Given the description of an element on the screen output the (x, y) to click on. 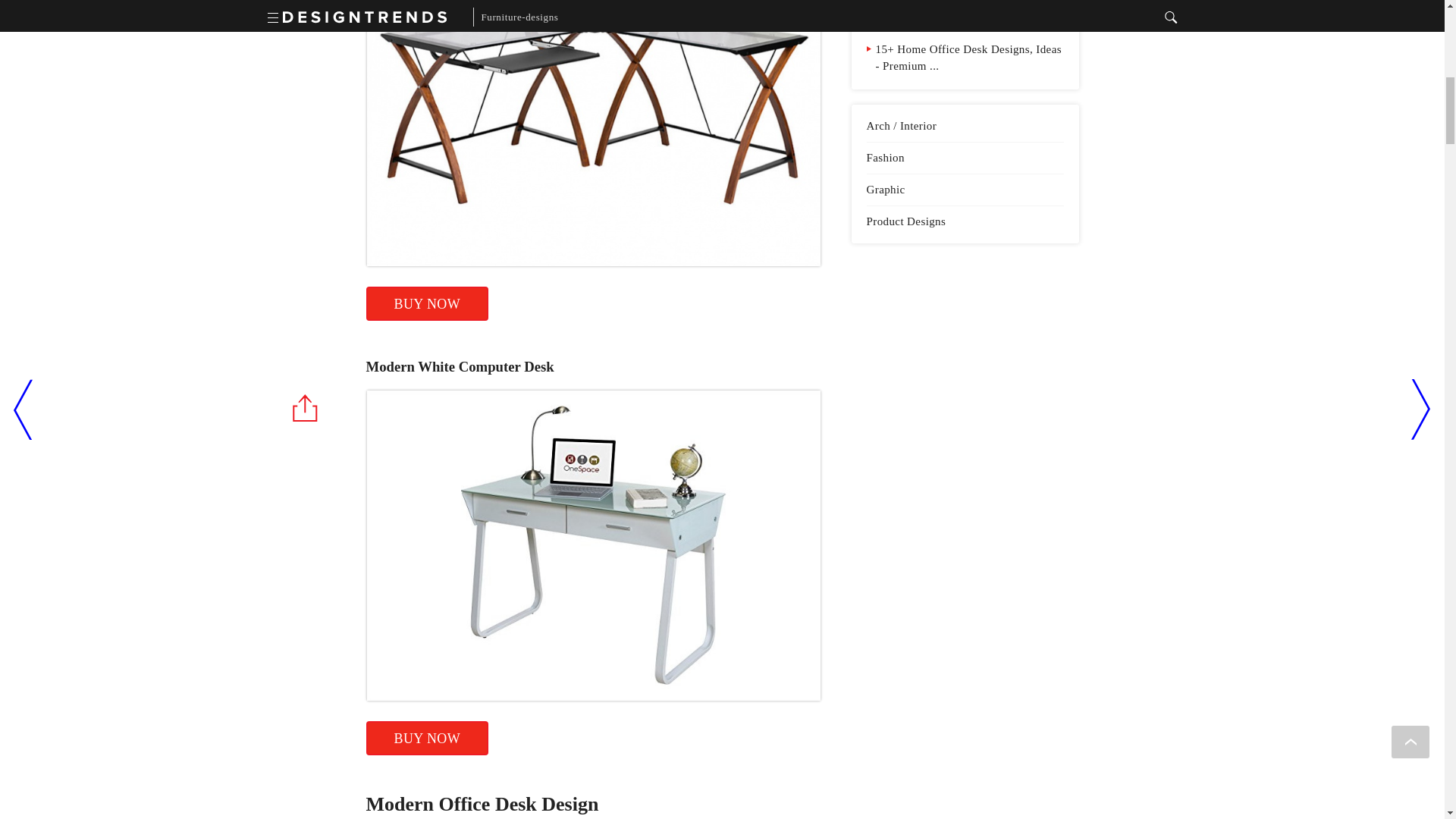
BUY NOW (426, 738)
BUY NOW (426, 303)
